Given the description of an element on the screen output the (x, y) to click on. 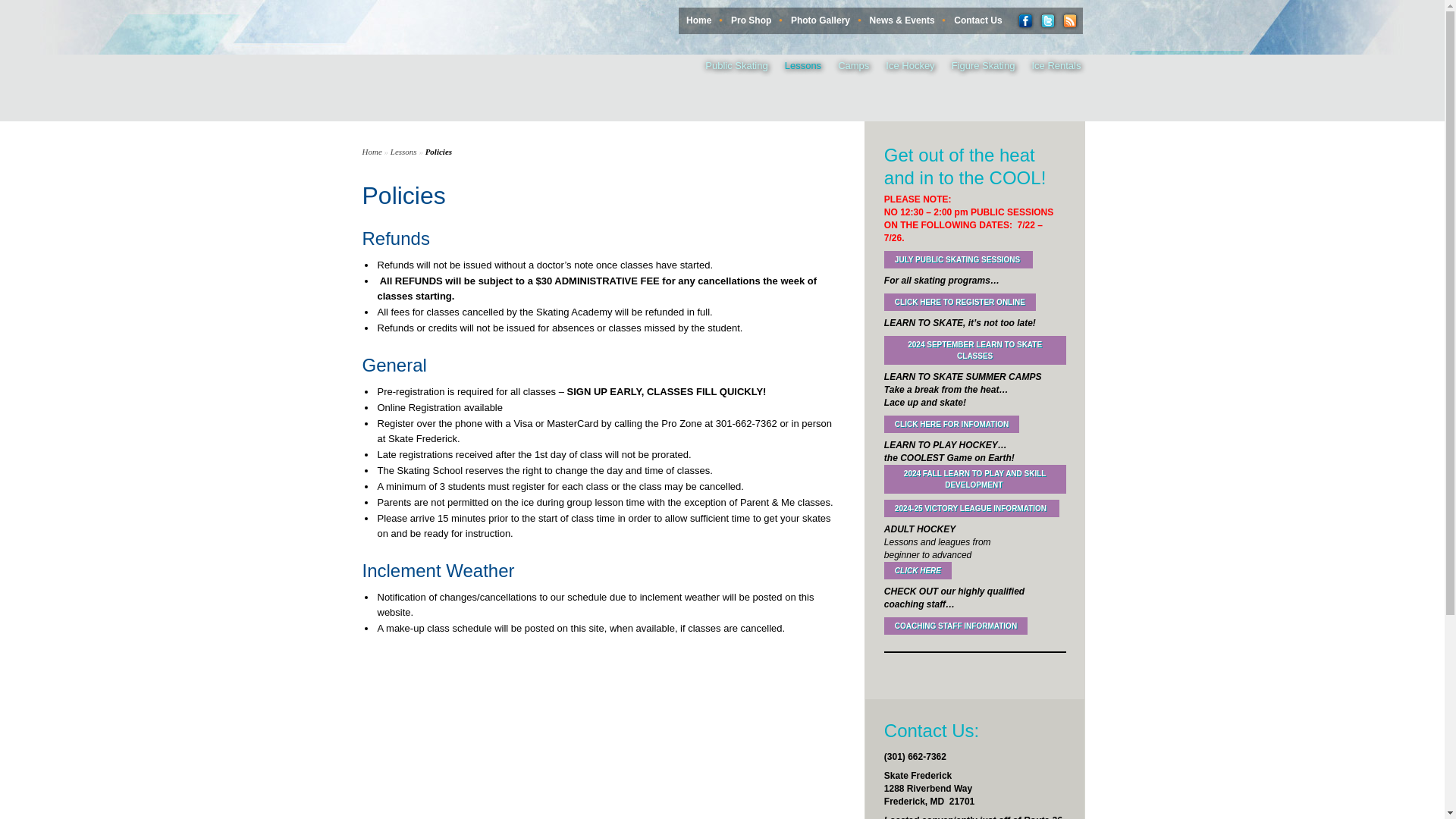
Contact Us (977, 20)
Photo Gallery (820, 20)
Camps (845, 67)
Home (698, 20)
Lessons (795, 67)
RSS (1068, 20)
Figure Skating (975, 67)
Pro Shop (750, 20)
Ice Hockey (902, 67)
Public Skating (728, 67)
twitter (1047, 20)
facebook (1025, 20)
Skate Frederick (475, 60)
